Given the description of an element on the screen output the (x, y) to click on. 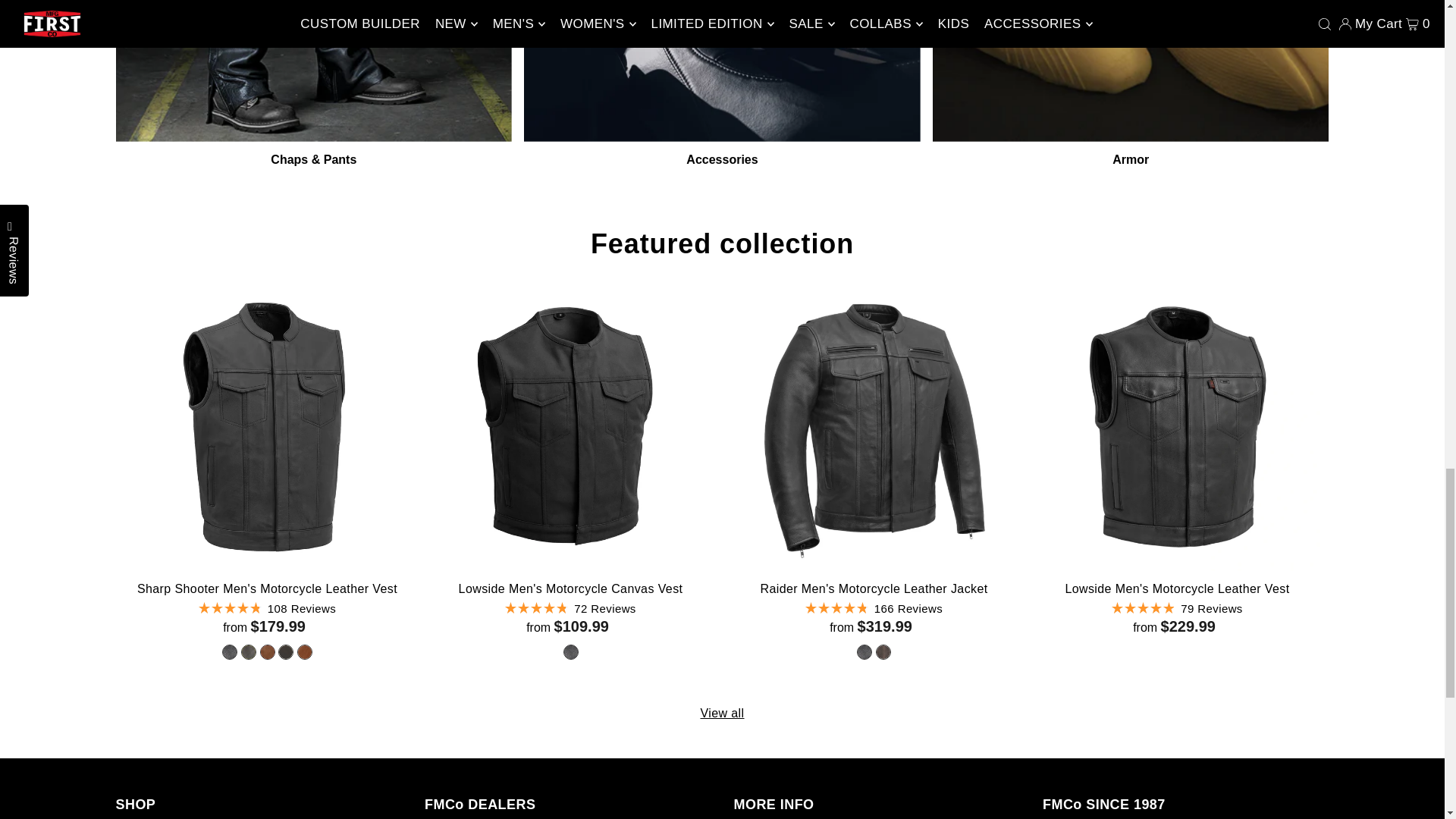
Sharp Shooter Men's Motorcycle Leather Vest (266, 426)
